Given the description of an element on the screen output the (x, y) to click on. 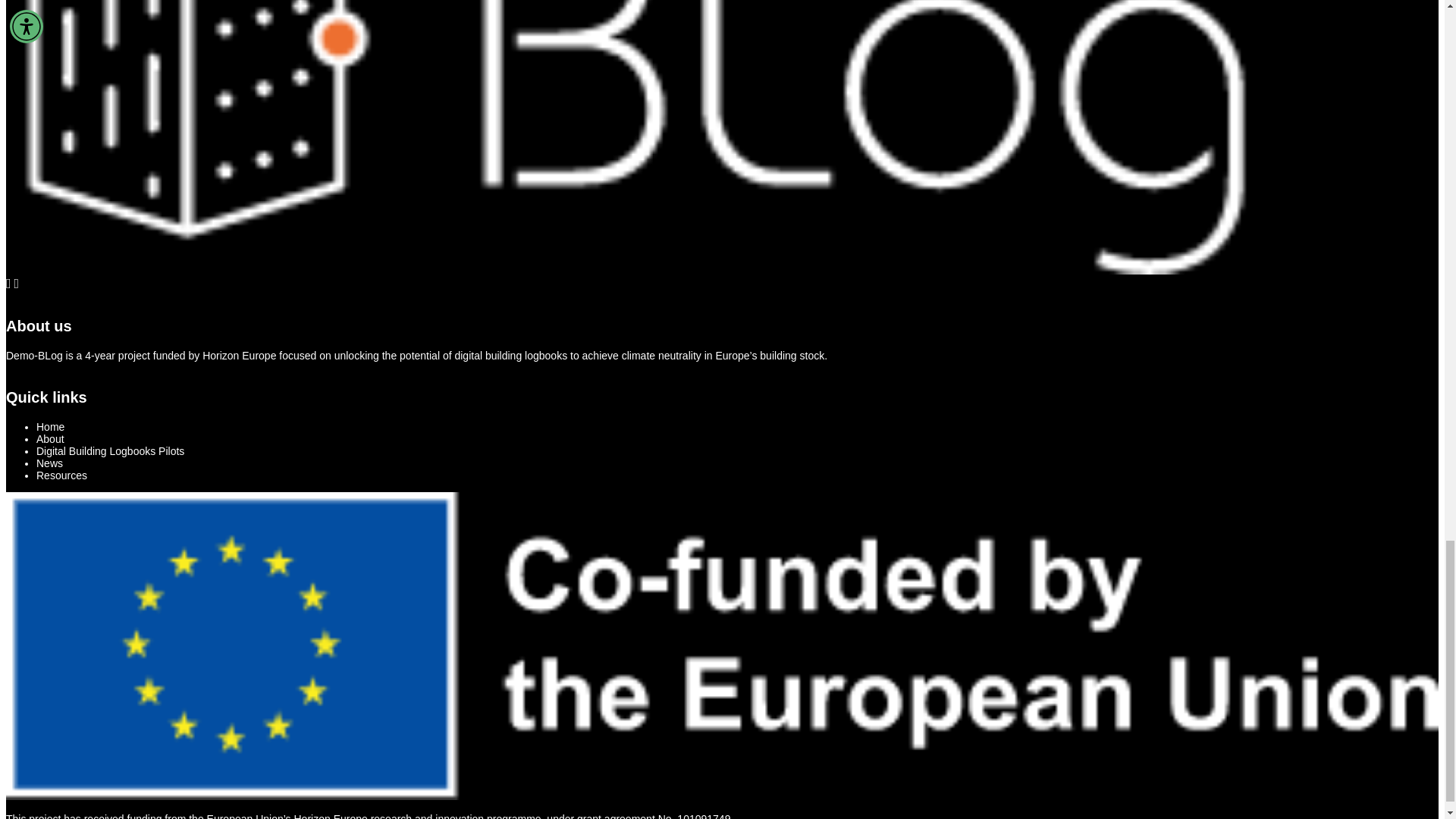
About (50, 439)
News (49, 463)
Resources (61, 475)
Home (50, 426)
Digital Building Logbooks Pilots (110, 451)
